Given the description of an element on the screen output the (x, y) to click on. 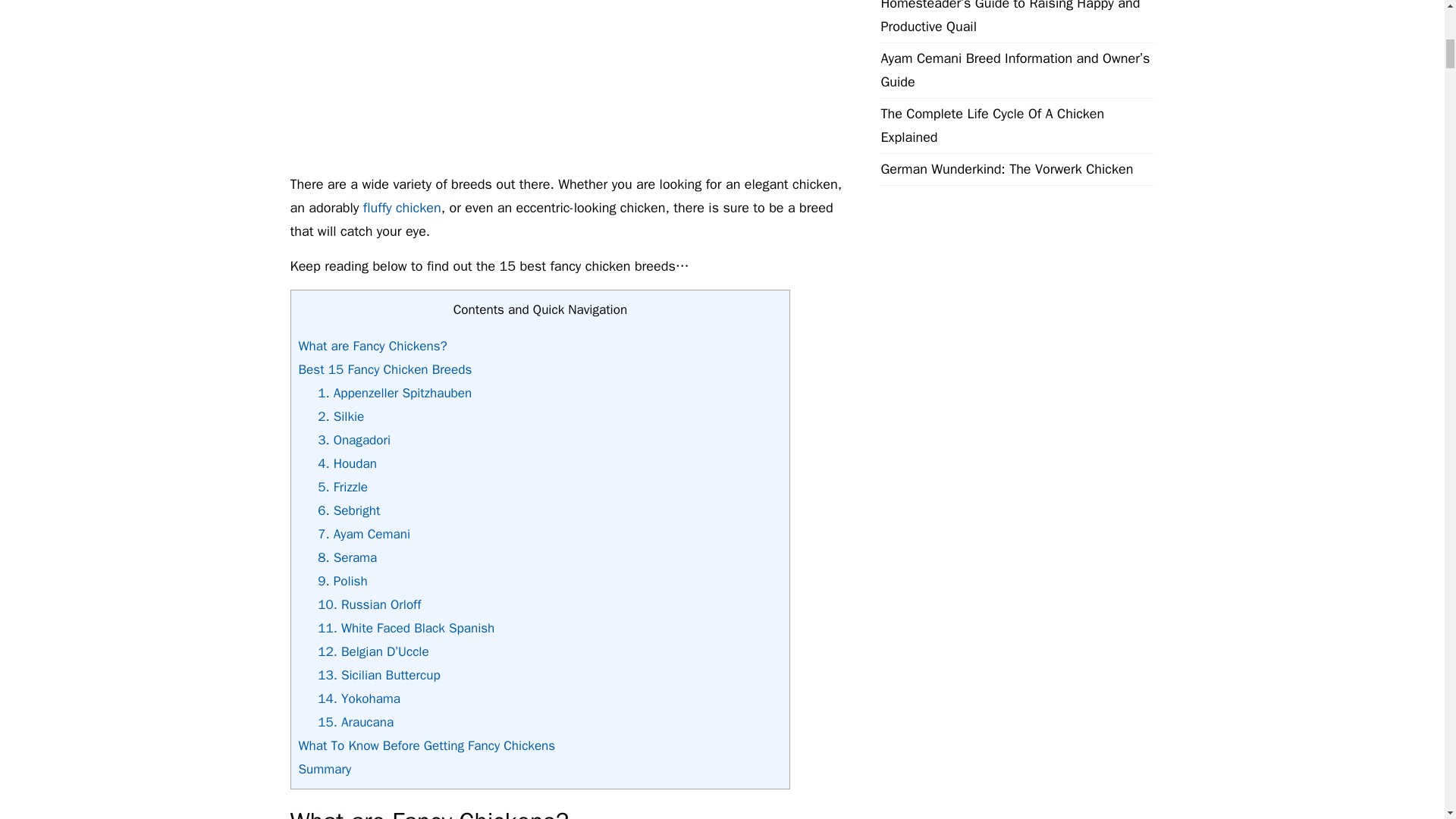
9. Polish (342, 580)
11. White Faced Black Spanish (406, 627)
6. Sebright (348, 510)
fluffy chicken (401, 207)
4. Houdan (347, 463)
1. Appenzeller Spitzhauben (394, 392)
2. Silkie (340, 416)
Best 15 Fancy Chicken Breeds (384, 369)
What To Know Before Getting Fancy Chickens (427, 745)
8. Serama (347, 557)
